Given the description of an element on the screen output the (x, y) to click on. 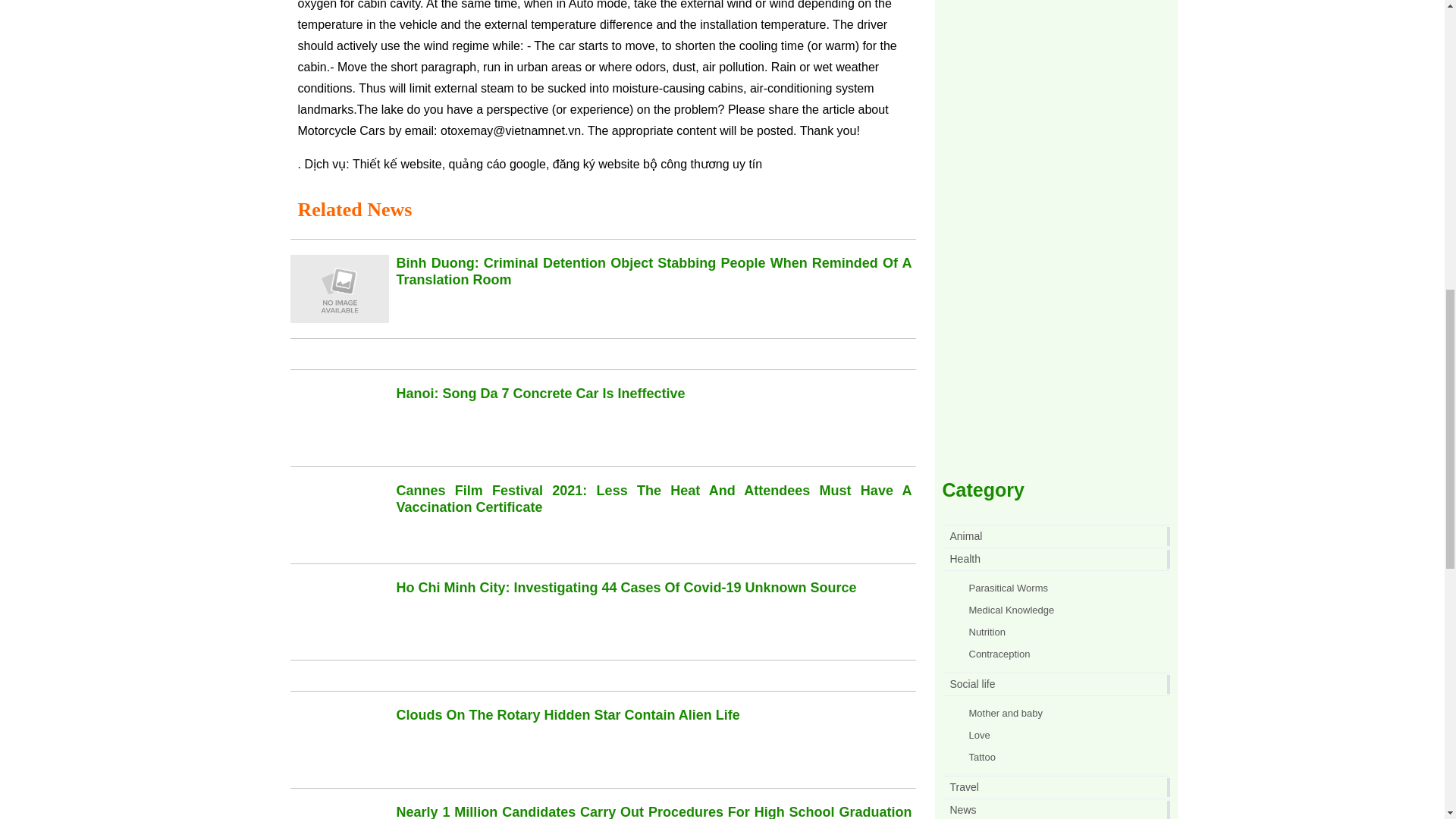
Clouds On The Rotary Hidden Star Contain Alien Life (567, 714)
Hanoi: Song Da 7 Concrete Car Is Ineffective (540, 393)
